Given the description of an element on the screen output the (x, y) to click on. 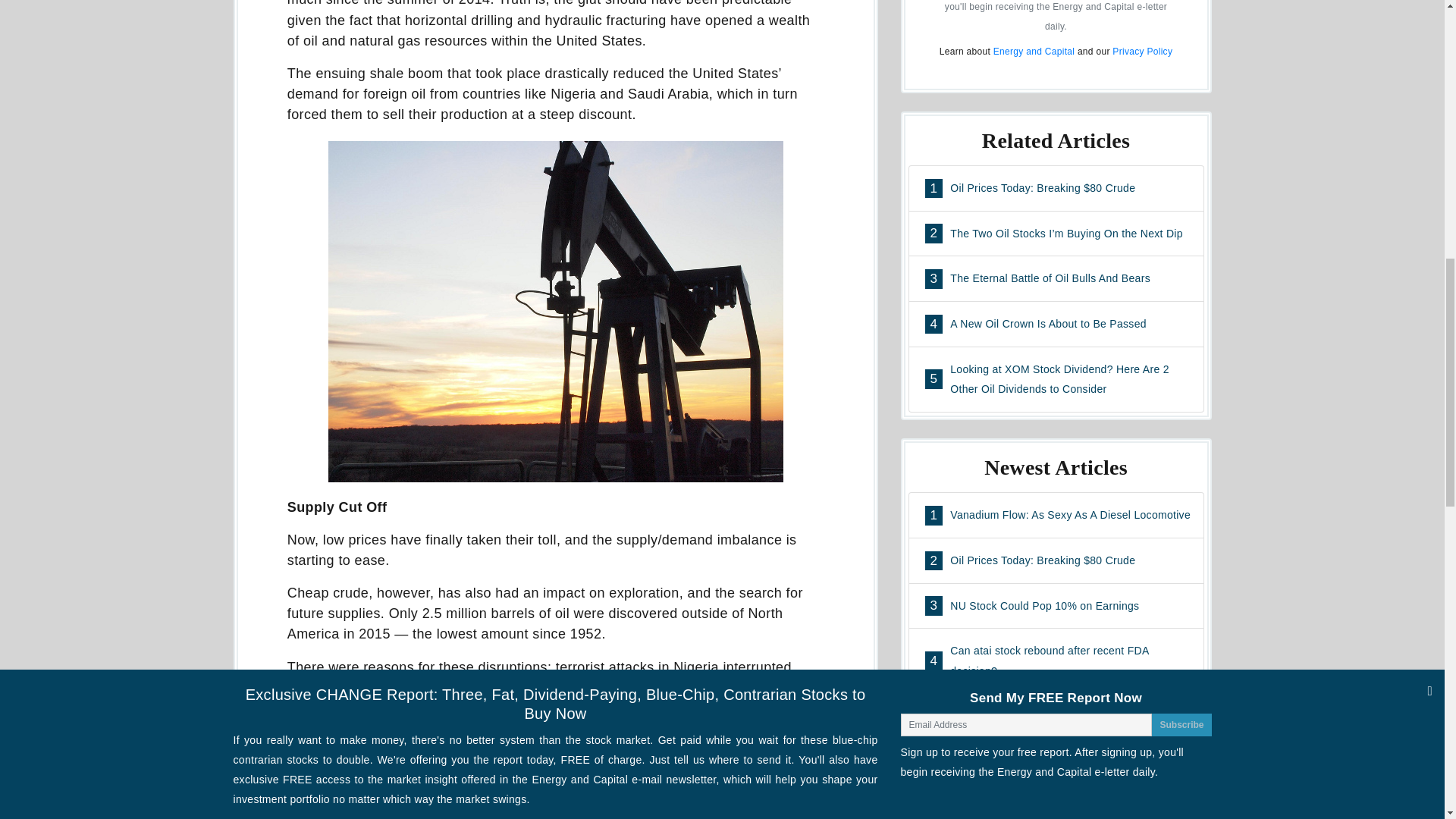
Privacy Policy (1056, 278)
Energy and Capital (1142, 50)
